Given the description of an element on the screen output the (x, y) to click on. 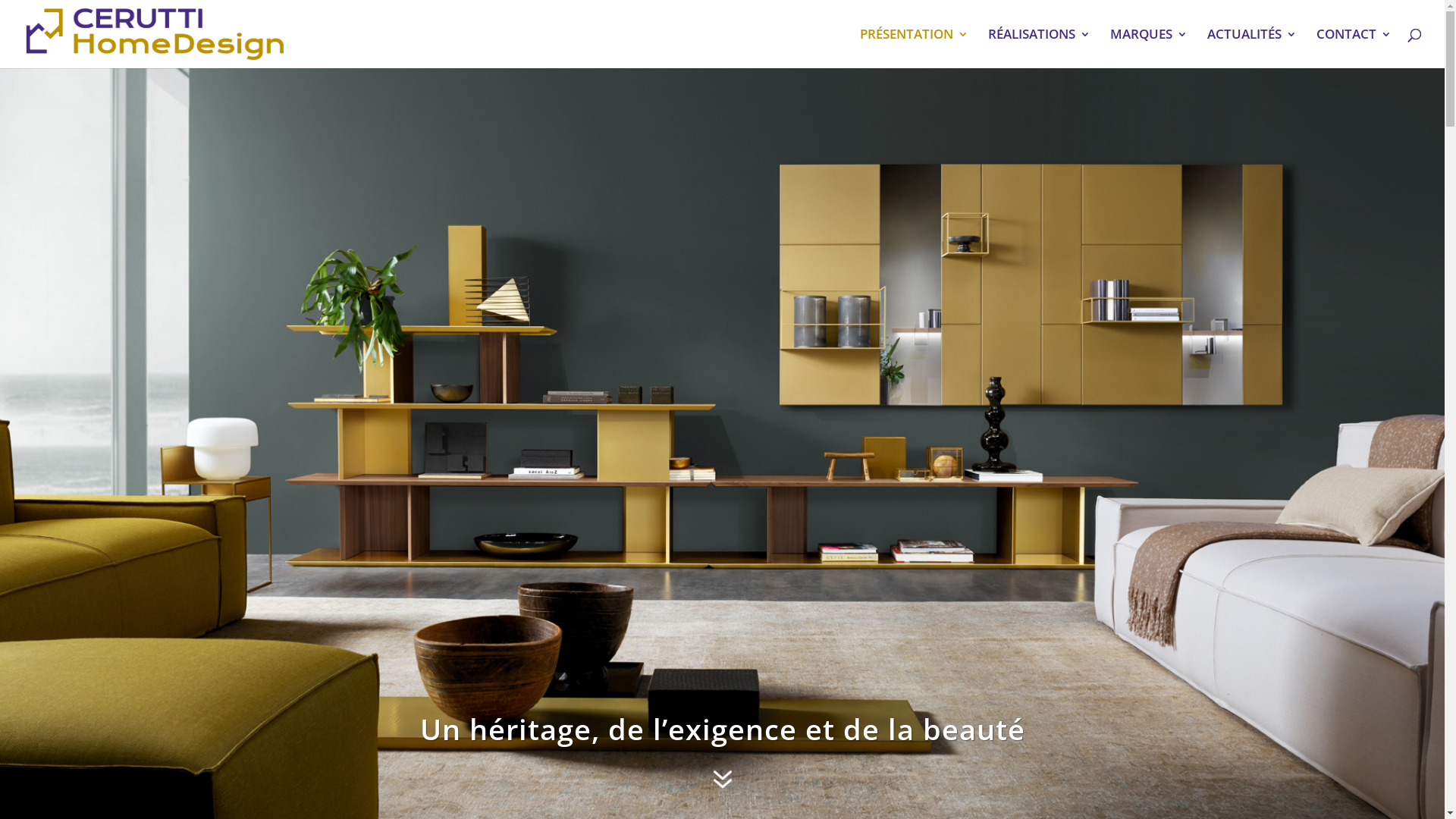
MARQUES Element type: text (1148, 48)
CONTACT Element type: text (1353, 48)
7 Element type: text (721, 783)
